Given the description of an element on the screen output the (x, y) to click on. 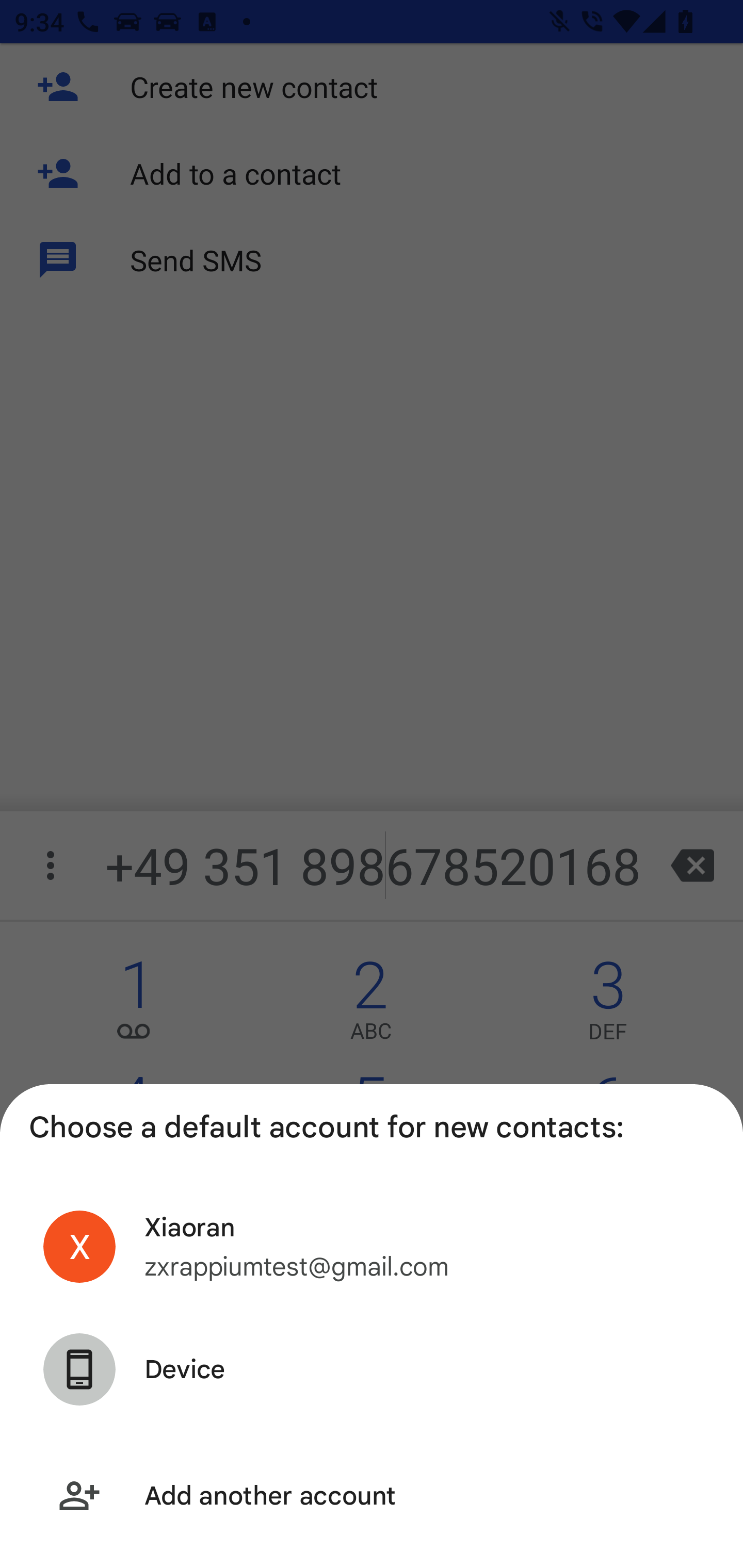
Xiaoran zxrappiumtest@gmail.com (371, 1246)
Device (371, 1368)
Add another account (371, 1495)
